Given the description of an element on the screen output the (x, y) to click on. 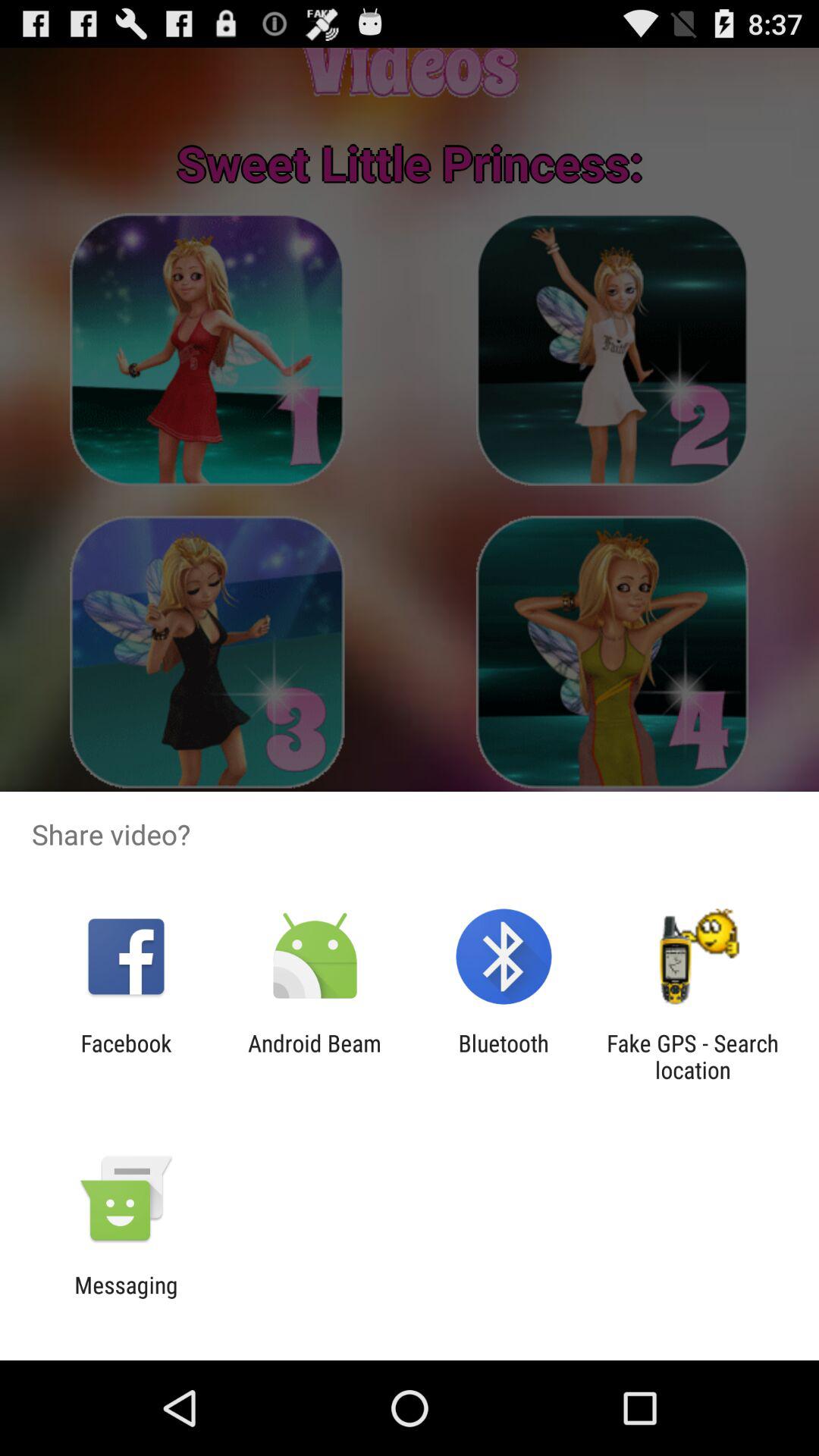
select app next to fake gps search (503, 1056)
